Given the description of an element on the screen output the (x, y) to click on. 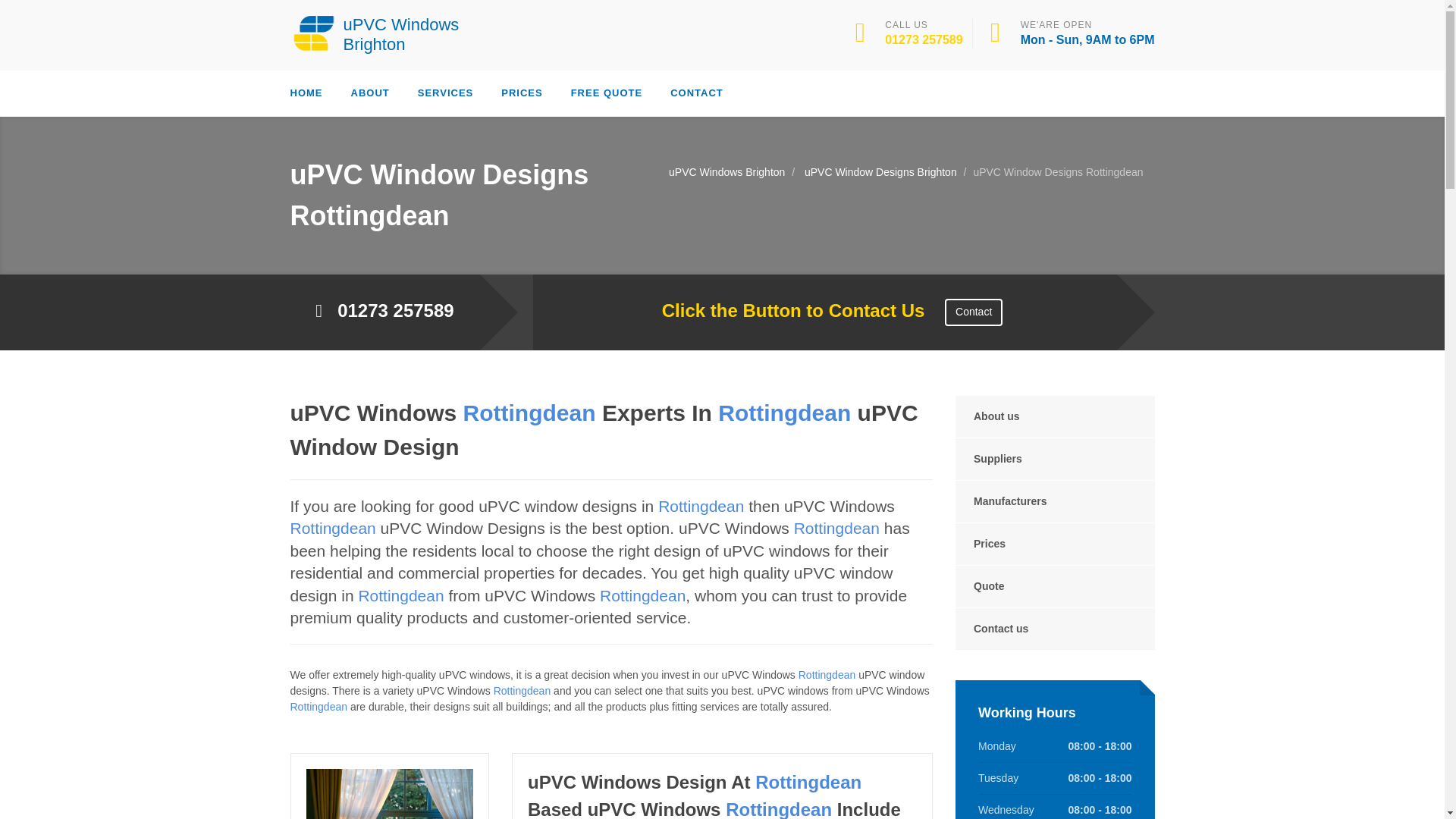
01273 257589 (923, 39)
uPVC Windows Brighton (380, 33)
uPVC Windows Brighton (380, 33)
PRICES (520, 93)
SERVICES (445, 93)
